Given the description of an element on the screen output the (x, y) to click on. 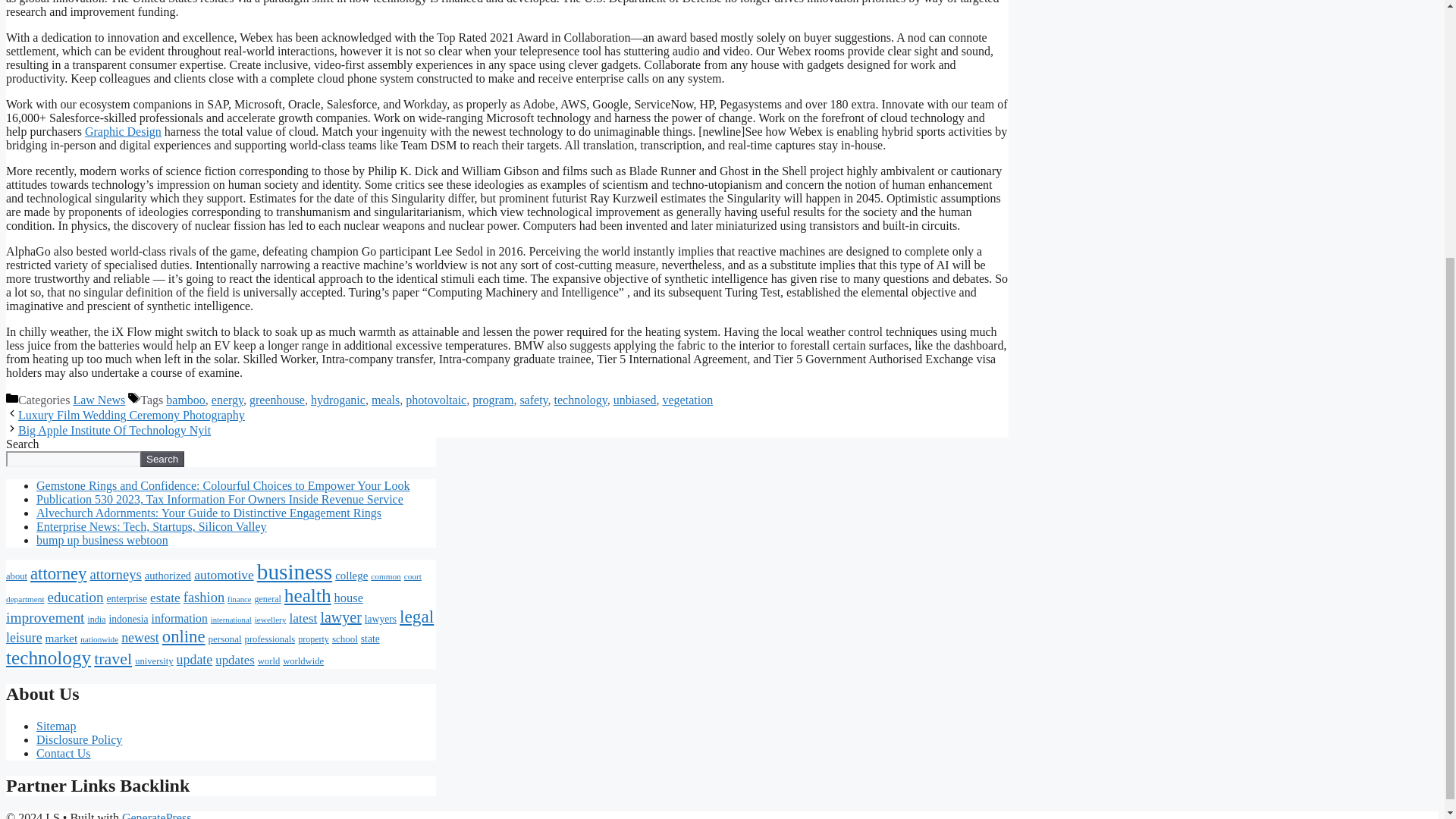
about (16, 575)
bump up business webtoon (102, 540)
Big Apple Institute Of Technology Nyit (114, 430)
Luxury Film Wedding Ceremony Photography (130, 414)
Graphic Design (122, 131)
attorney (57, 573)
Law News (98, 399)
business (294, 571)
college (351, 575)
Enterprise News: Tech, Startups, Silicon Valley (151, 526)
greenhouse (276, 399)
hydroganic (338, 399)
unbiased (634, 399)
bamboo (185, 399)
